Given the description of an element on the screen output the (x, y) to click on. 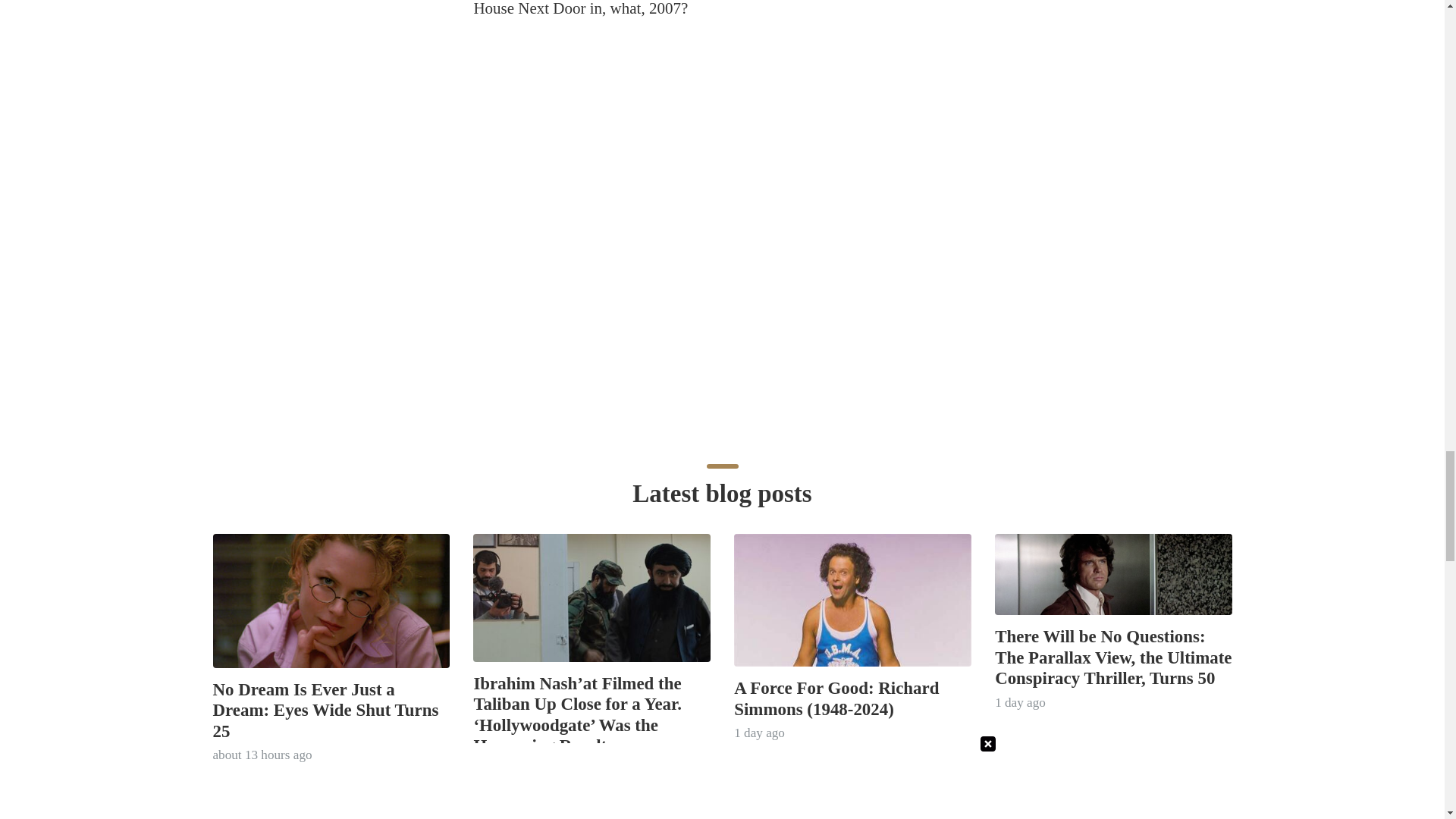
No Dream Is Ever Just a Dream: Eyes Wide Shut Turns 25 (325, 710)
